Given the description of an element on the screen output the (x, y) to click on. 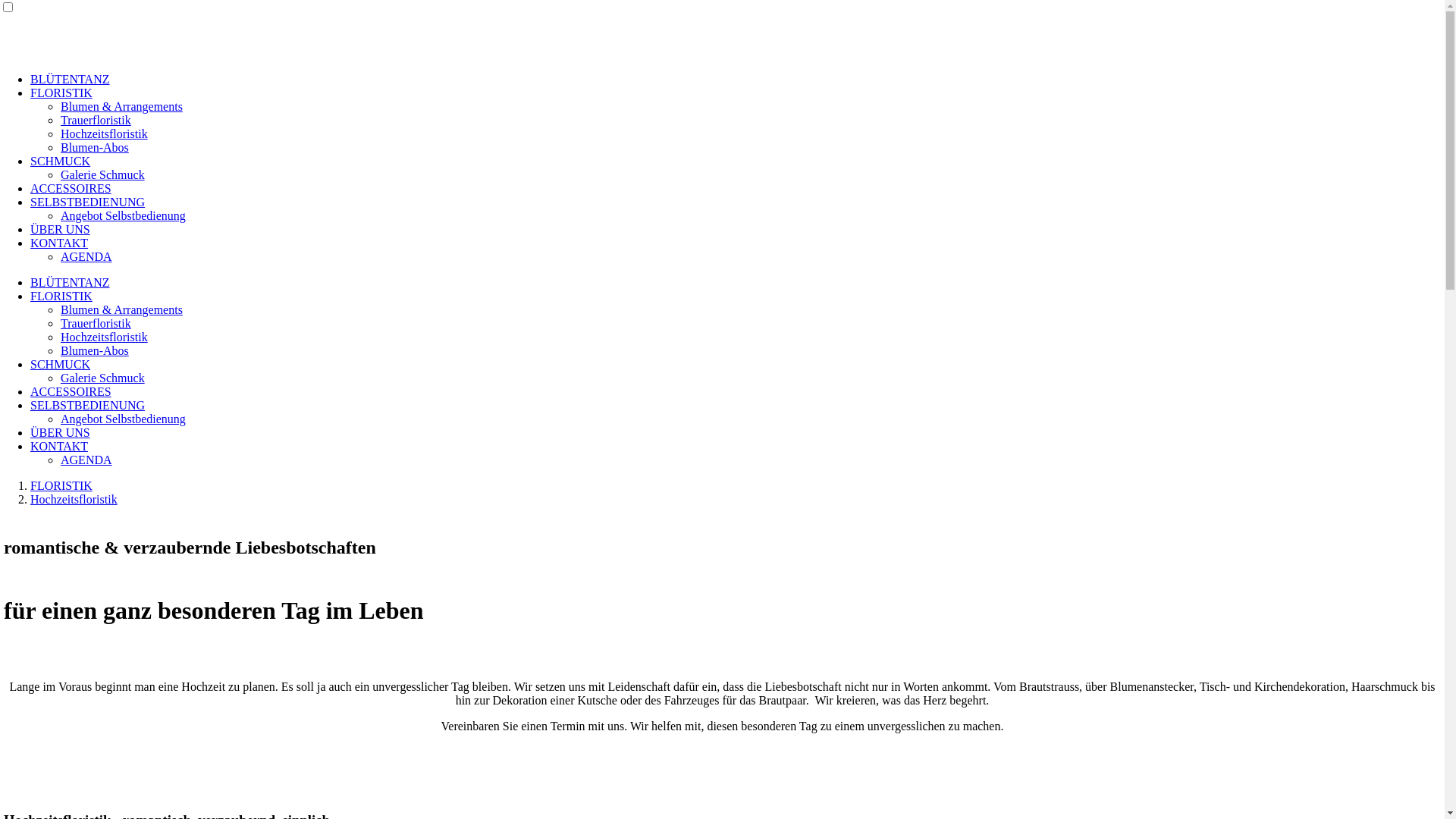
KONTAKT Element type: text (58, 445)
AGENDA Element type: text (86, 459)
Angebot Selbstbedienung Element type: text (122, 215)
ACCESSOIRES Element type: text (70, 188)
Hochzeitsfloristik Element type: text (103, 336)
ACCESSOIRES Element type: text (70, 391)
Hochzeitsfloristik Element type: text (103, 133)
AGENDA Element type: text (86, 256)
Blumen & Arrangements Element type: text (121, 309)
FLORISTIK Element type: text (61, 295)
Blumen-Abos Element type: text (94, 350)
Blumen-Abos Element type: text (94, 147)
Angebot Selbstbedienung Element type: text (122, 418)
SCHMUCK Element type: text (60, 160)
Trauerfloristik Element type: text (95, 119)
Galerie Schmuck Element type: text (102, 174)
Blumen & Arrangements Element type: text (121, 106)
SELBSTBEDIENUNG Element type: text (87, 201)
FLORISTIK Element type: text (61, 92)
Galerie Schmuck Element type: text (102, 377)
FLORISTIK Element type: text (61, 485)
SELBSTBEDIENUNG Element type: text (87, 404)
SCHMUCK Element type: text (60, 363)
Trauerfloristik Element type: text (95, 322)
KONTAKT Element type: text (58, 242)
Hochzeitsfloristik Element type: text (73, 498)
